Given the description of an element on the screen output the (x, y) to click on. 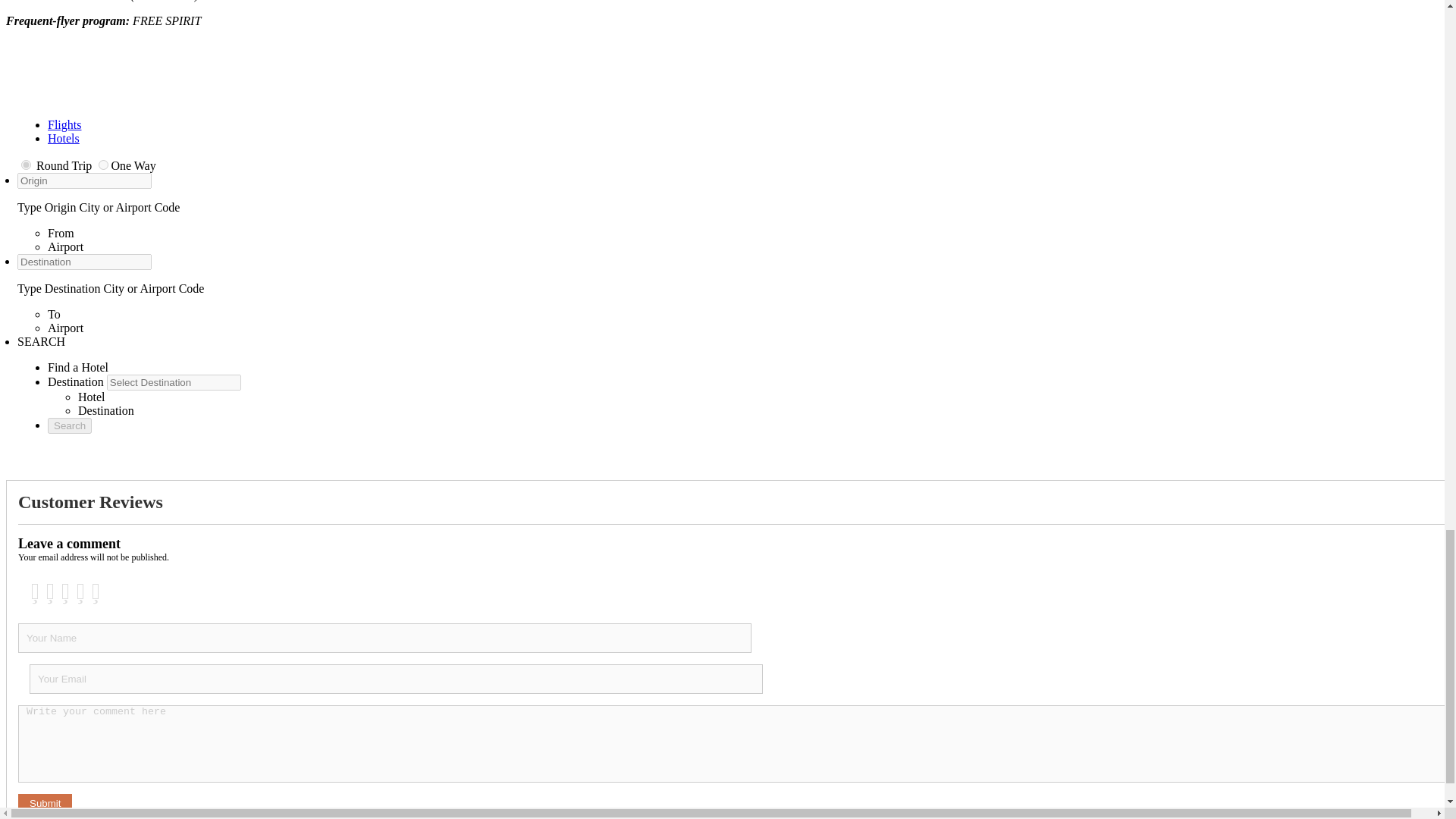
Hotels (64, 137)
1 (103, 164)
Flights (64, 124)
Search (69, 425)
Submit (44, 803)
0 (25, 164)
